Given the description of an element on the screen output the (x, y) to click on. 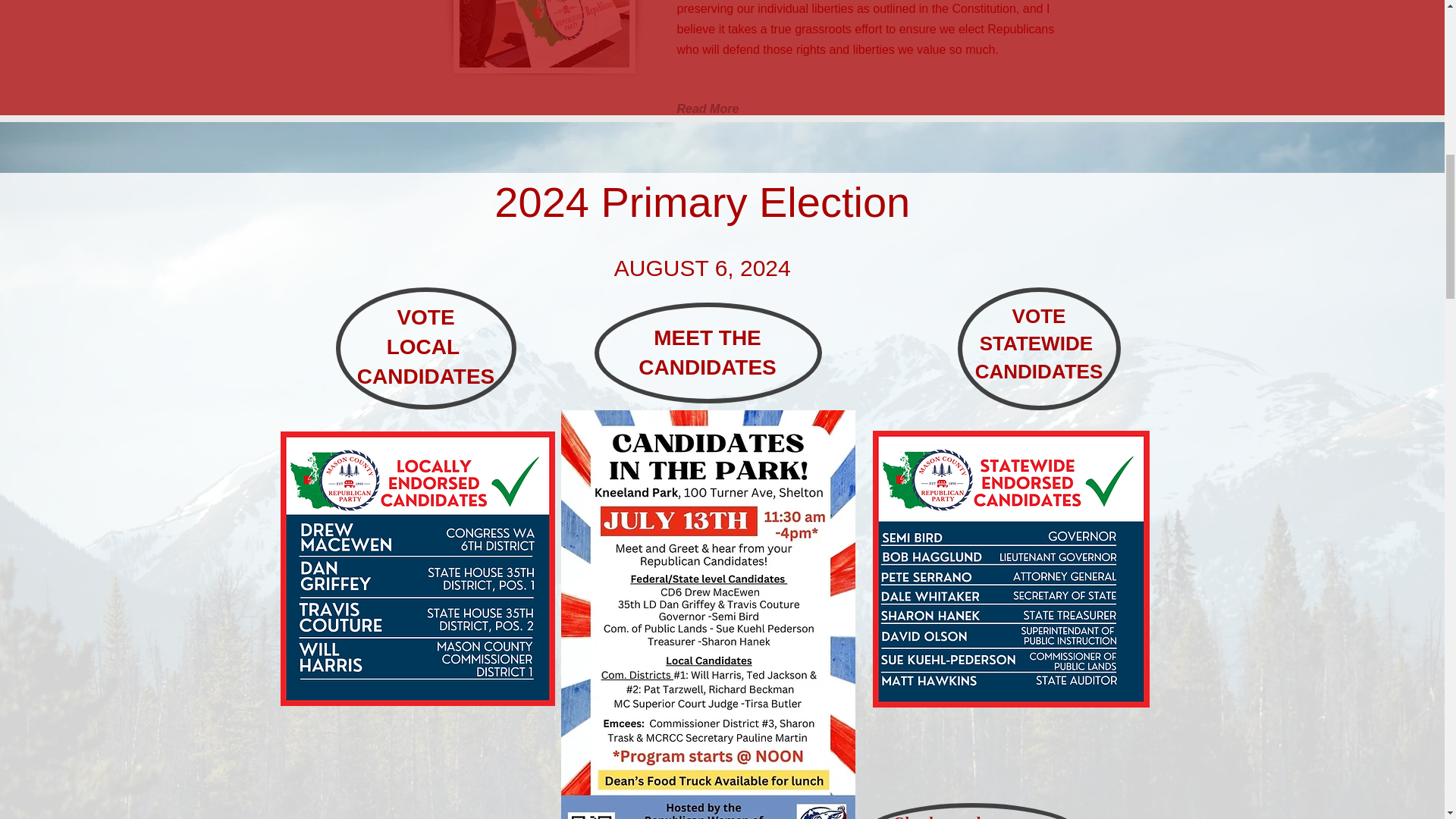
Read More (718, 109)
